Given the description of an element on the screen output the (x, y) to click on. 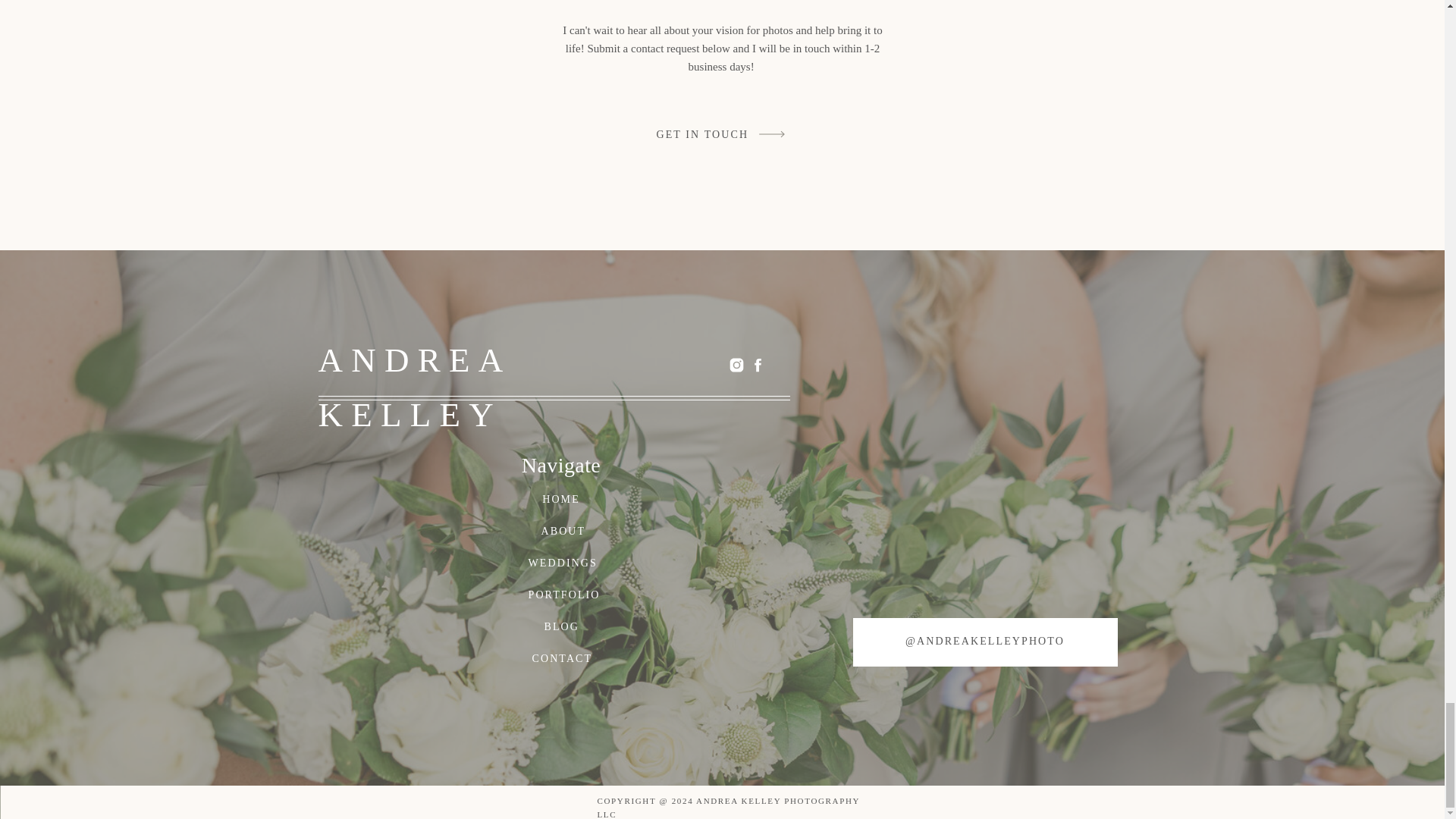
CONTACT (561, 658)
HOME (560, 498)
GET IN TOUCH (703, 134)
BLOG (561, 626)
WEDDINGS (553, 562)
PORTFOLIO (560, 594)
ABOUT (560, 530)
